Given the description of an element on the screen output the (x, y) to click on. 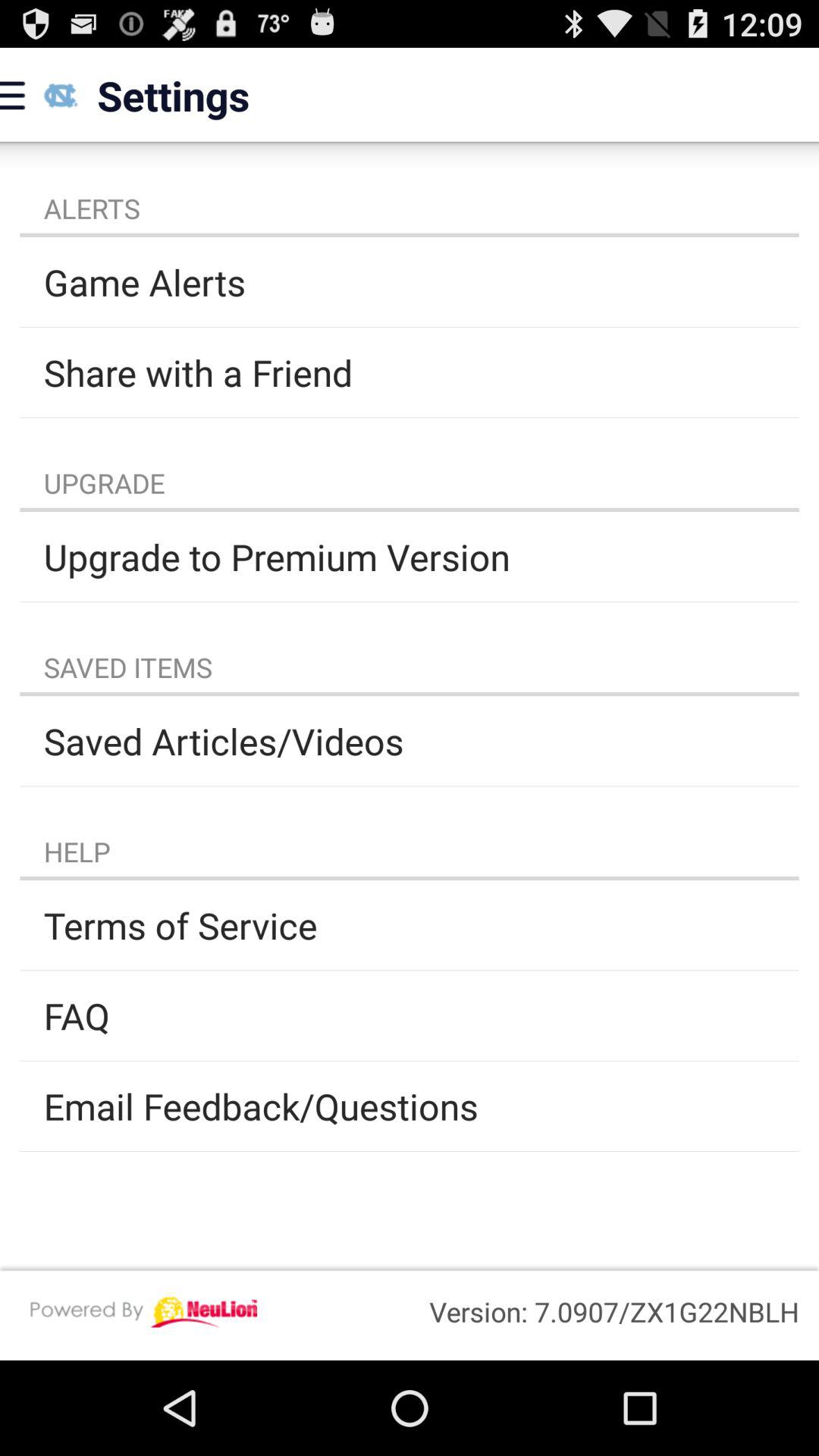
open icon at the bottom left corner (143, 1312)
